Given the description of an element on the screen output the (x, y) to click on. 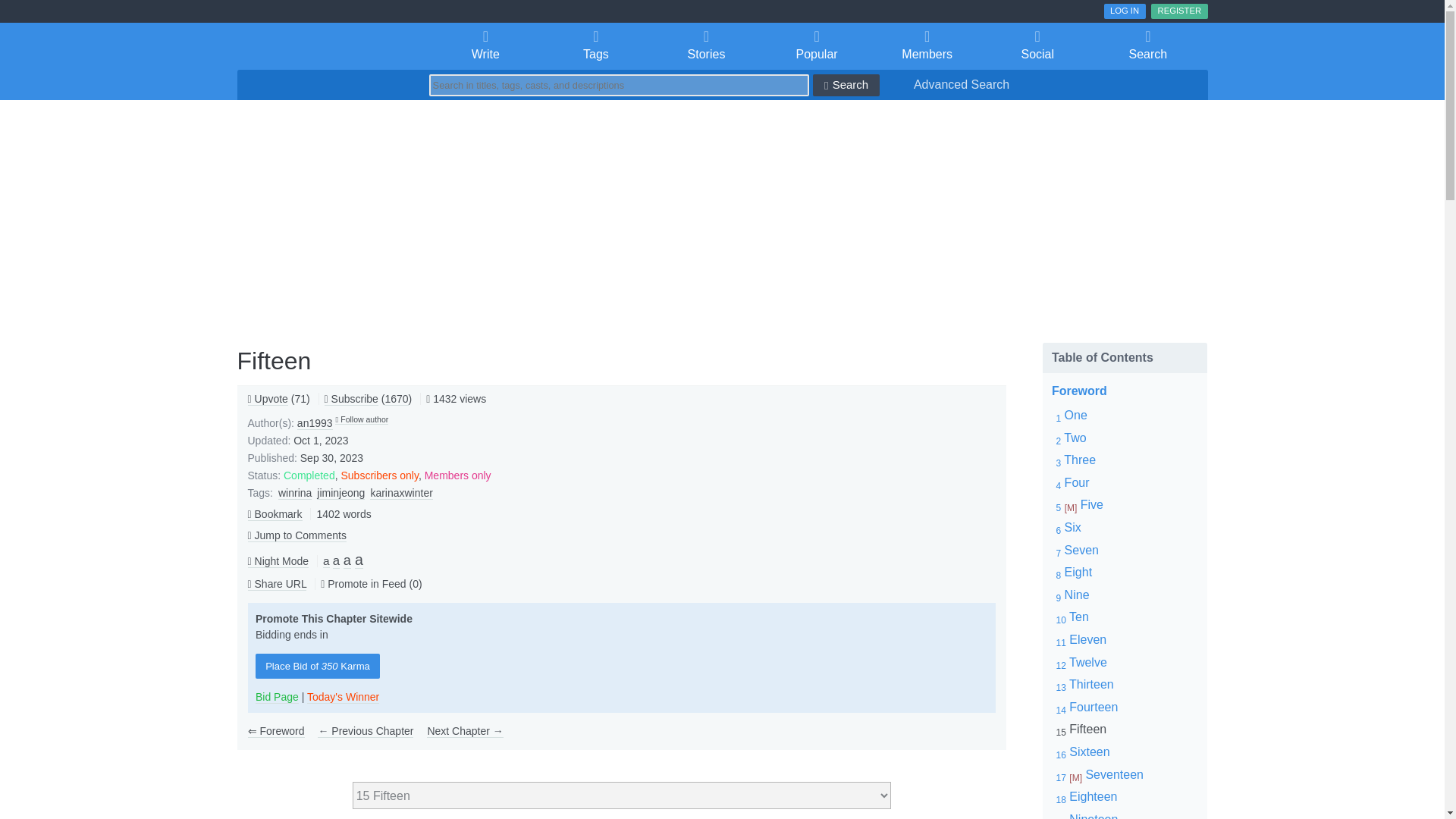
Write (485, 45)
Members (927, 45)
Search (1148, 45)
Popular (816, 45)
Tags (595, 45)
Stories (705, 45)
REGISTER (1179, 10)
Social (1037, 45)
LOG IN (1124, 10)
